Given the description of an element on the screen output the (x, y) to click on. 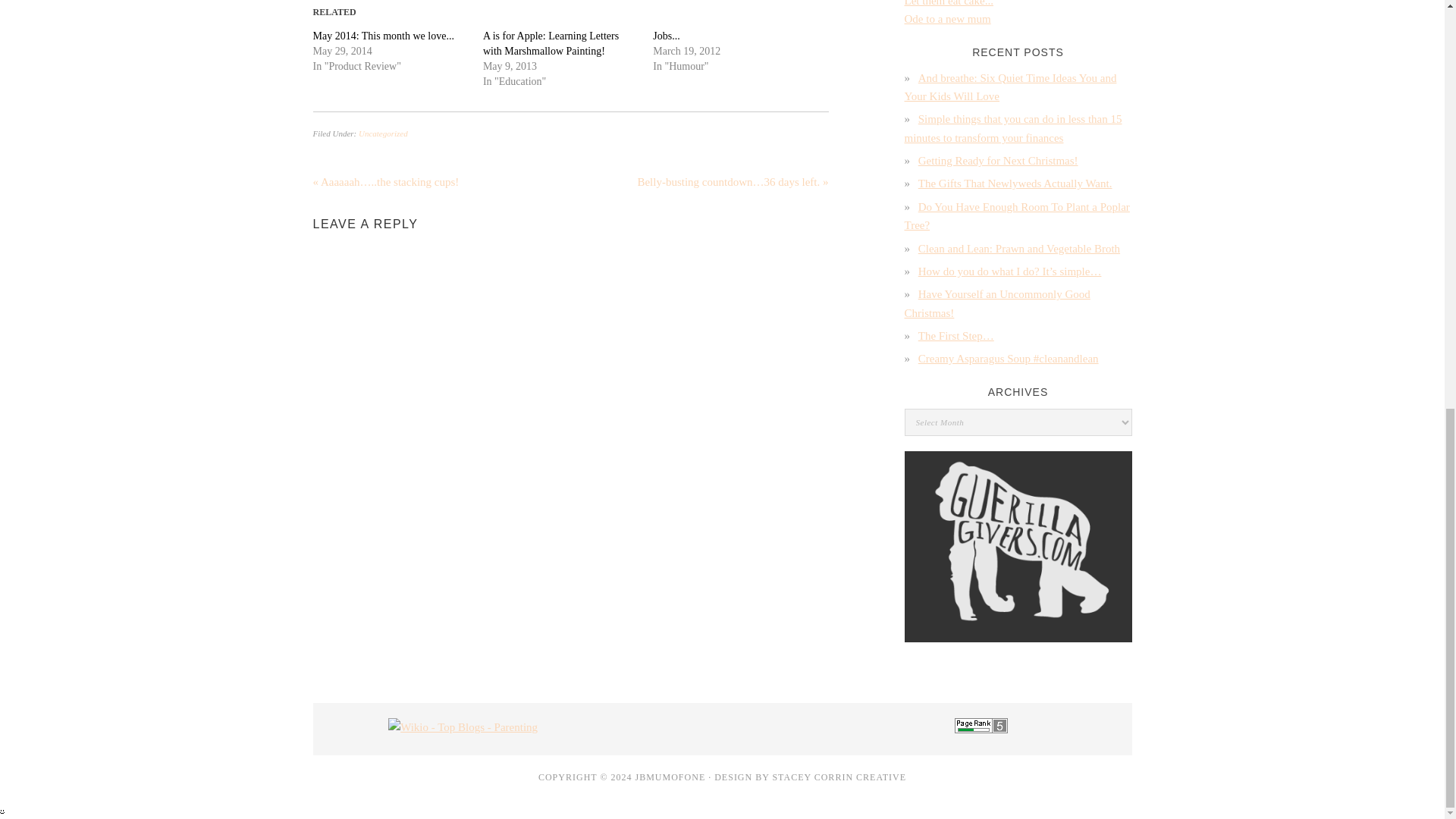
May 2014: This month we love... (382, 35)
Page Ranking Tool (981, 729)
Jobs... (665, 35)
Uncategorized (382, 133)
A is for Apple: Learning Letters with Marshmallow Painting! (550, 43)
